Given the description of an element on the screen output the (x, y) to click on. 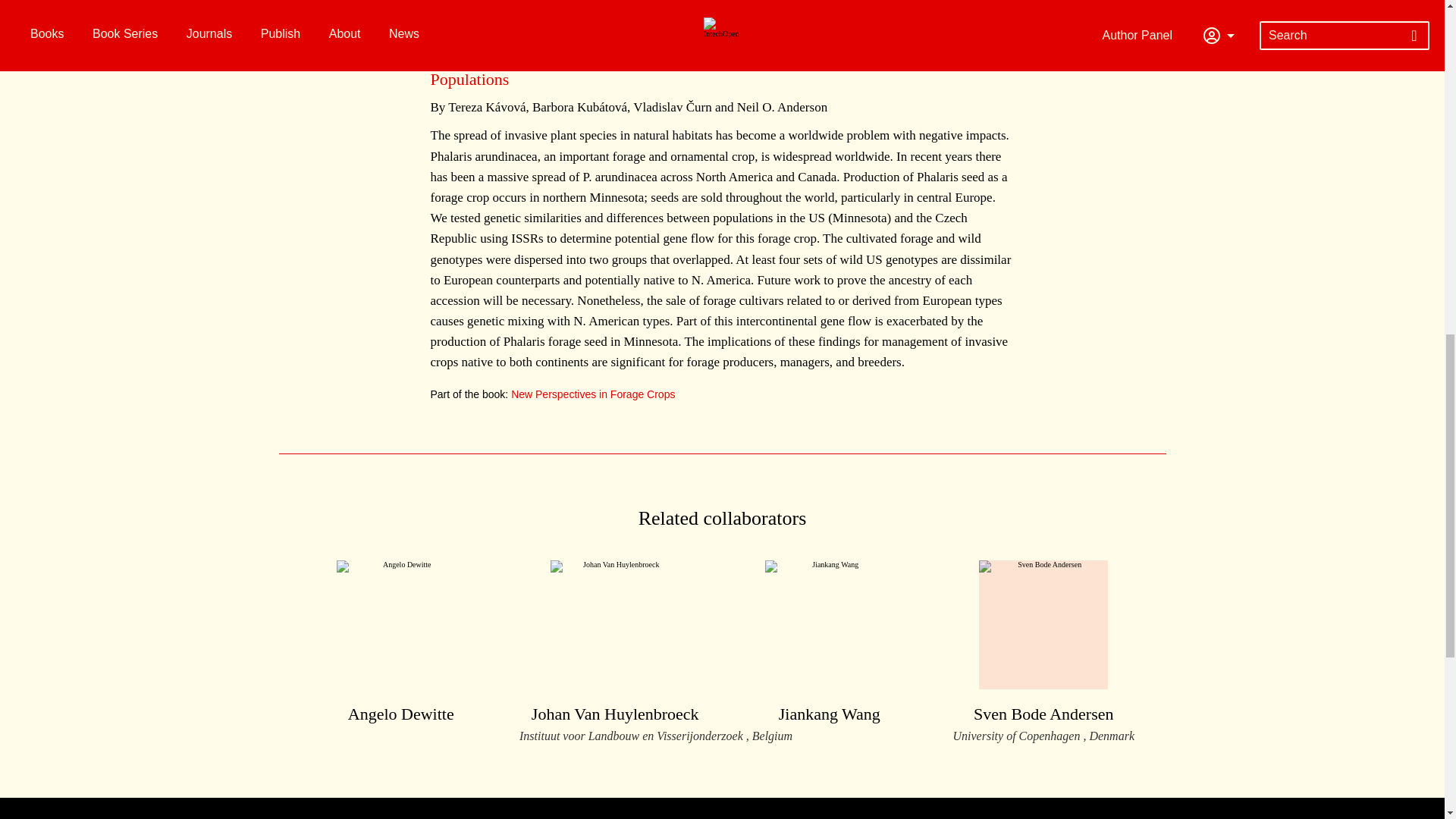
Angelo Dewitte (401, 644)
New Perspectives in Forage Crops (593, 394)
Jiankang Wang (829, 644)
Plant Breeding (545, 13)
